Given the description of an element on the screen output the (x, y) to click on. 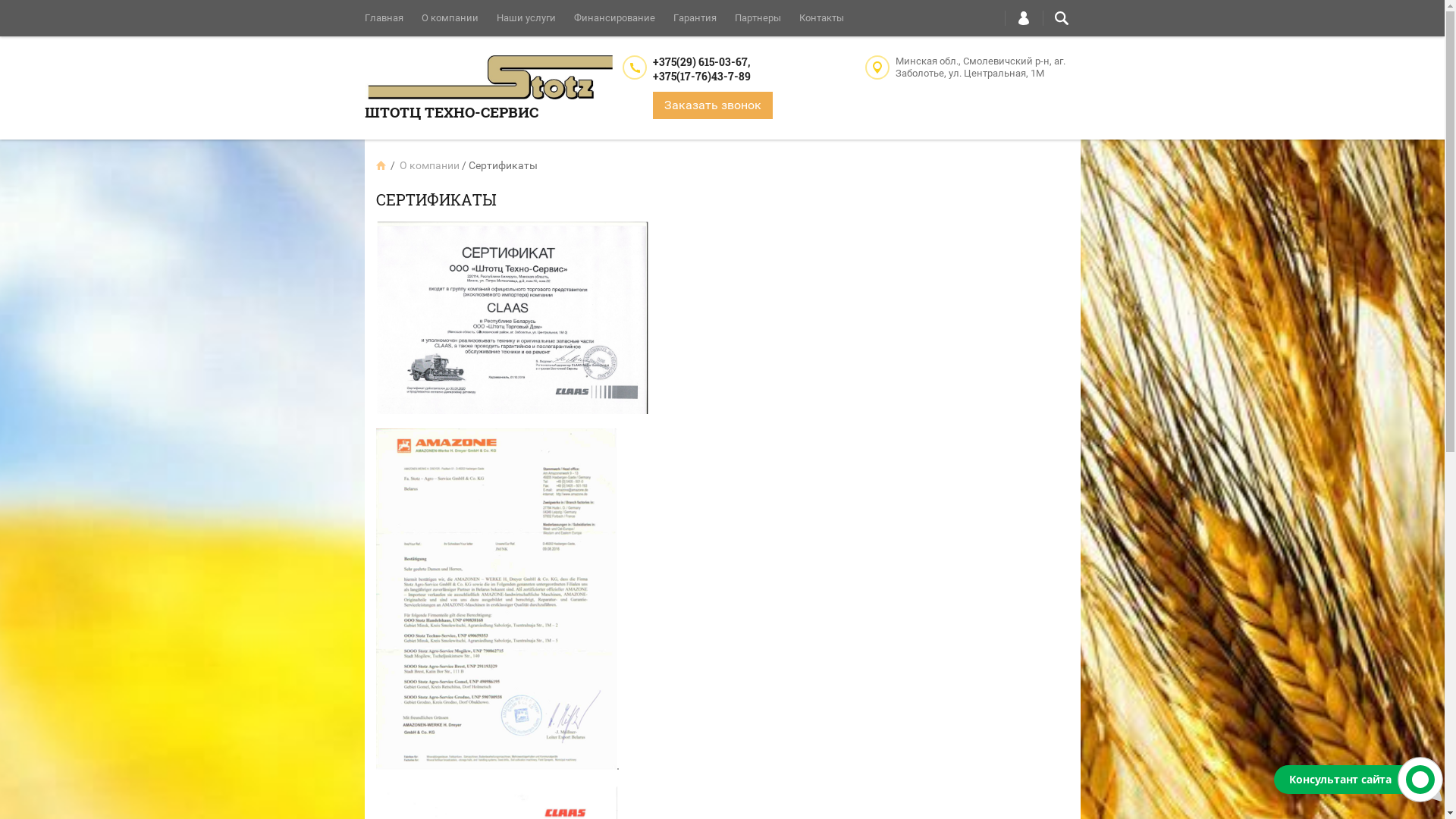
+375(29) 615-03-67, Element type: text (700, 61)
+375(17-76)43-7-89 Element type: text (700, 76)
